Given the description of an element on the screen output the (x, y) to click on. 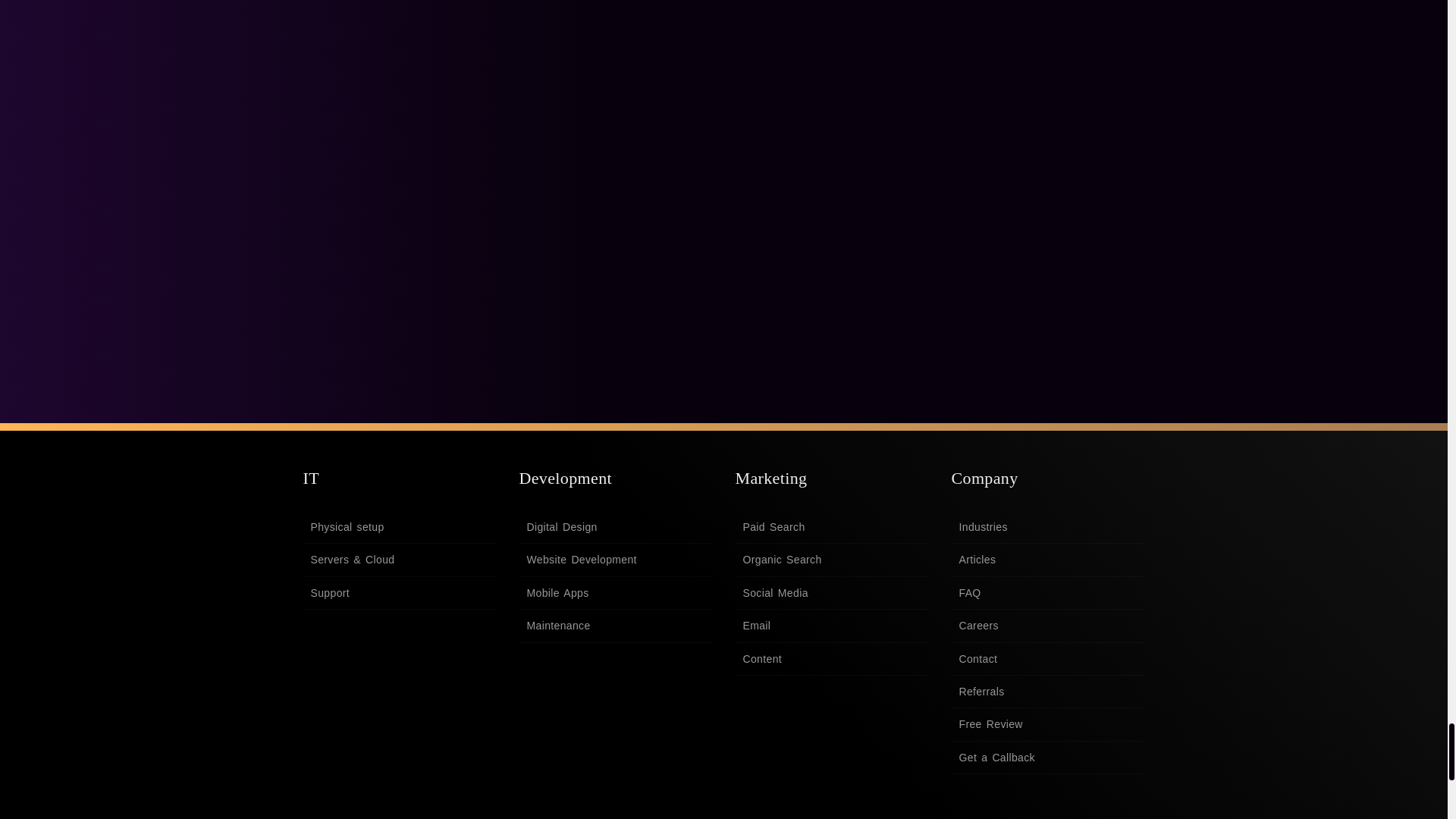
Digital Design (614, 527)
Social Media (831, 593)
Physical setup (399, 527)
Mobile Apps (614, 593)
Organic Search (831, 559)
Maintenance (614, 625)
Website Development (614, 559)
Paid Search (831, 527)
Email (831, 625)
Support (399, 593)
